Given the description of an element on the screen output the (x, y) to click on. 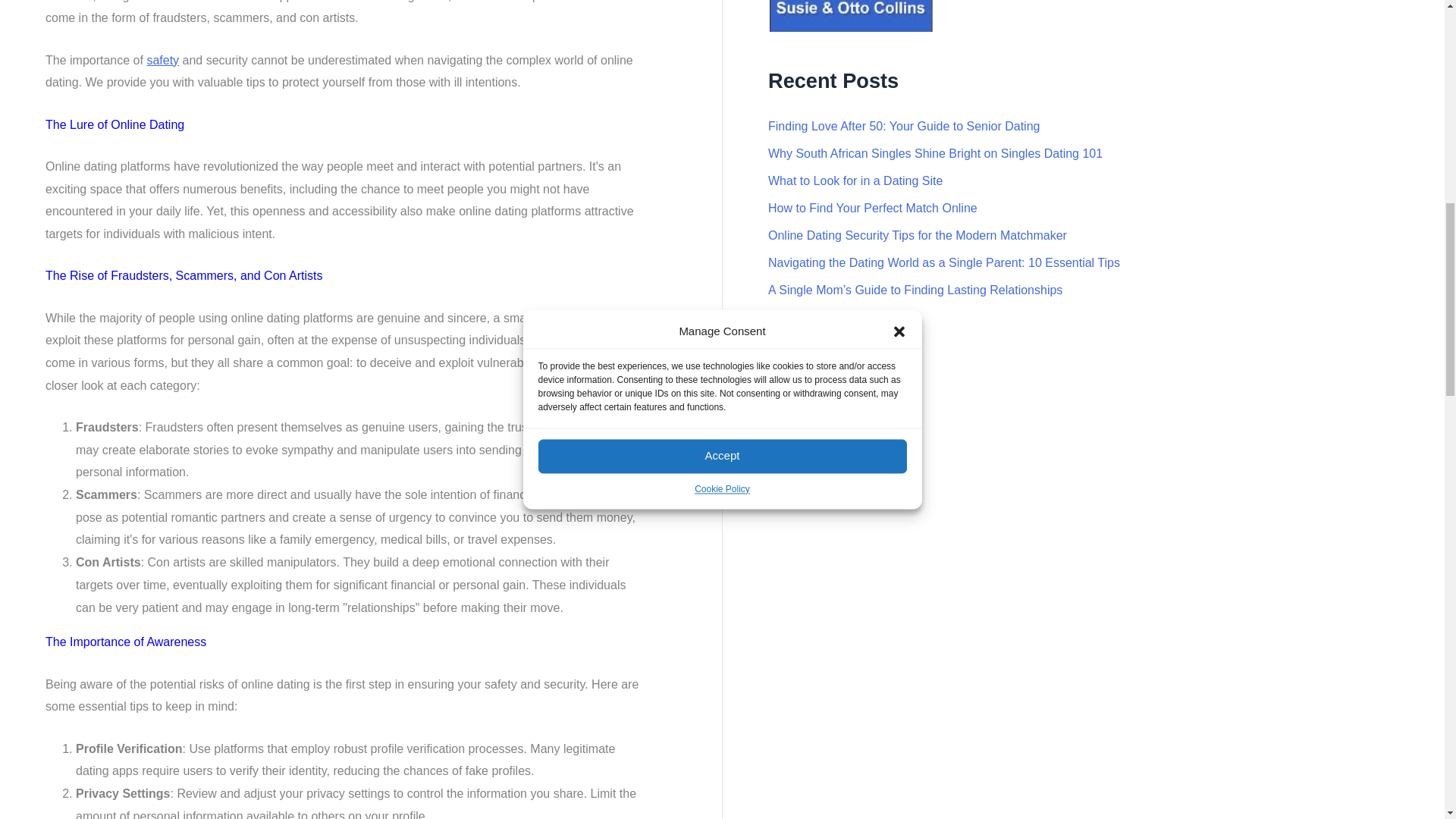
safety (163, 60)
